Given the description of an element on the screen output the (x, y) to click on. 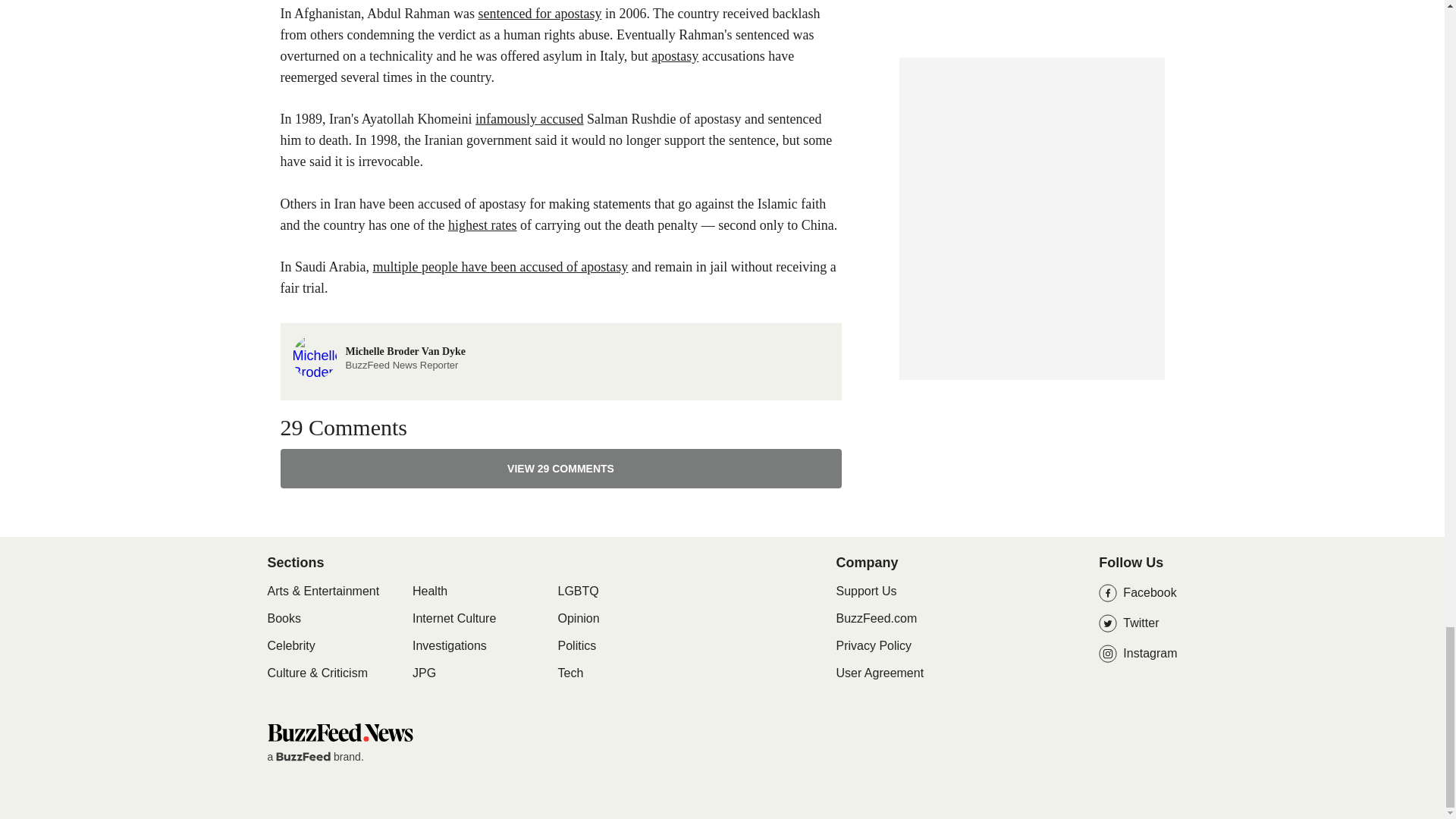
multiple people have been accused of apostasy (499, 266)
apostasy (674, 55)
BuzzFeed (303, 756)
BuzzFeed News Home (339, 732)
highest rates (482, 224)
sentenced for apostasy (378, 355)
VIEW 29 COMMENTS (539, 13)
infamously accused (561, 468)
